Given the description of an element on the screen output the (x, y) to click on. 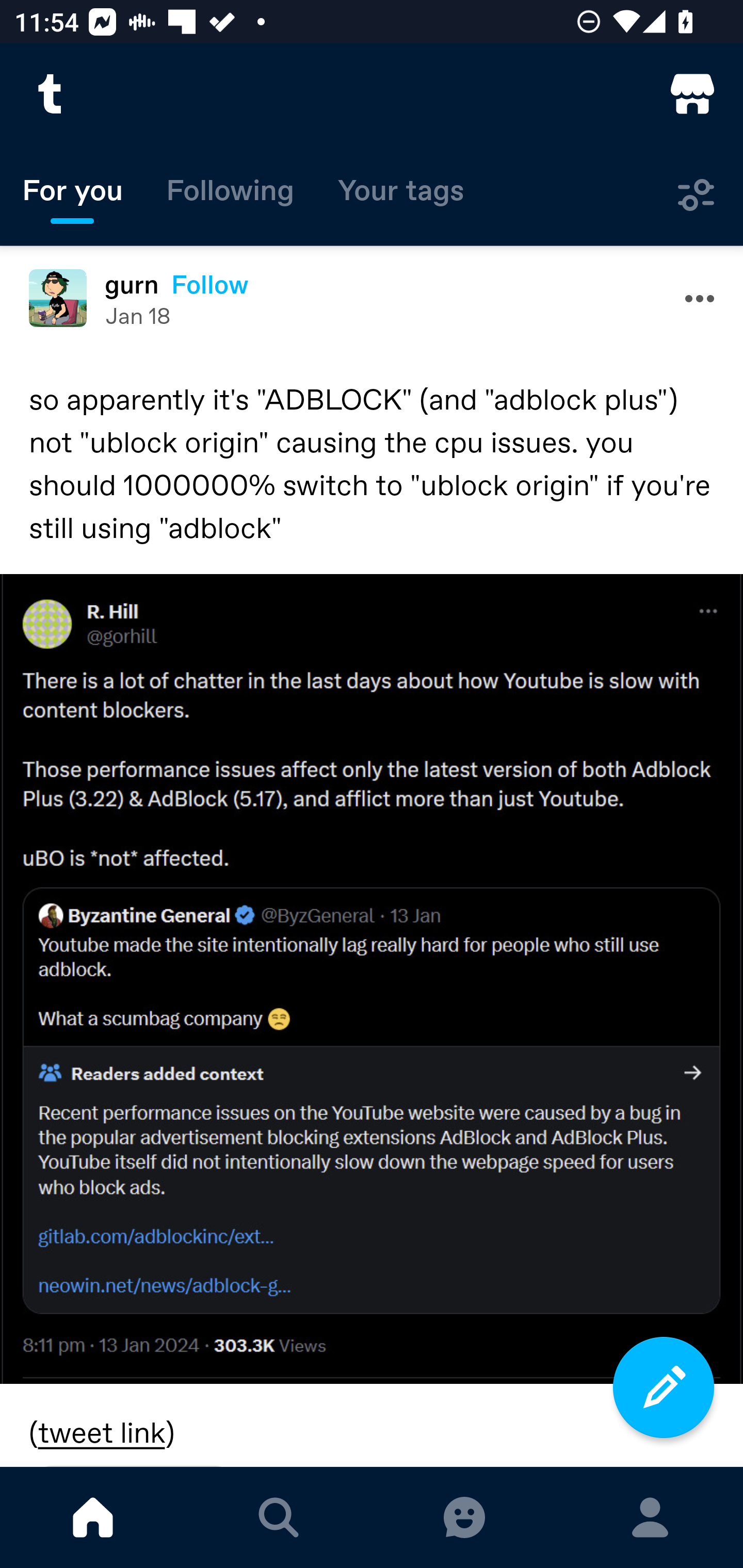
Tumblr (50, 93)
TumblrMart (692, 94)
Following (230, 195)
Your tags (400, 195)
Avatar frame gurn   gurn Follow Jan 18 (371, 298)
Follow (209, 283)
Compose a new post (663, 1387)
DASHBOARD (92, 1517)
EXPLORE (278, 1517)
MESSAGES (464, 1517)
ACCOUNT (650, 1517)
